Given the description of an element on the screen output the (x, y) to click on. 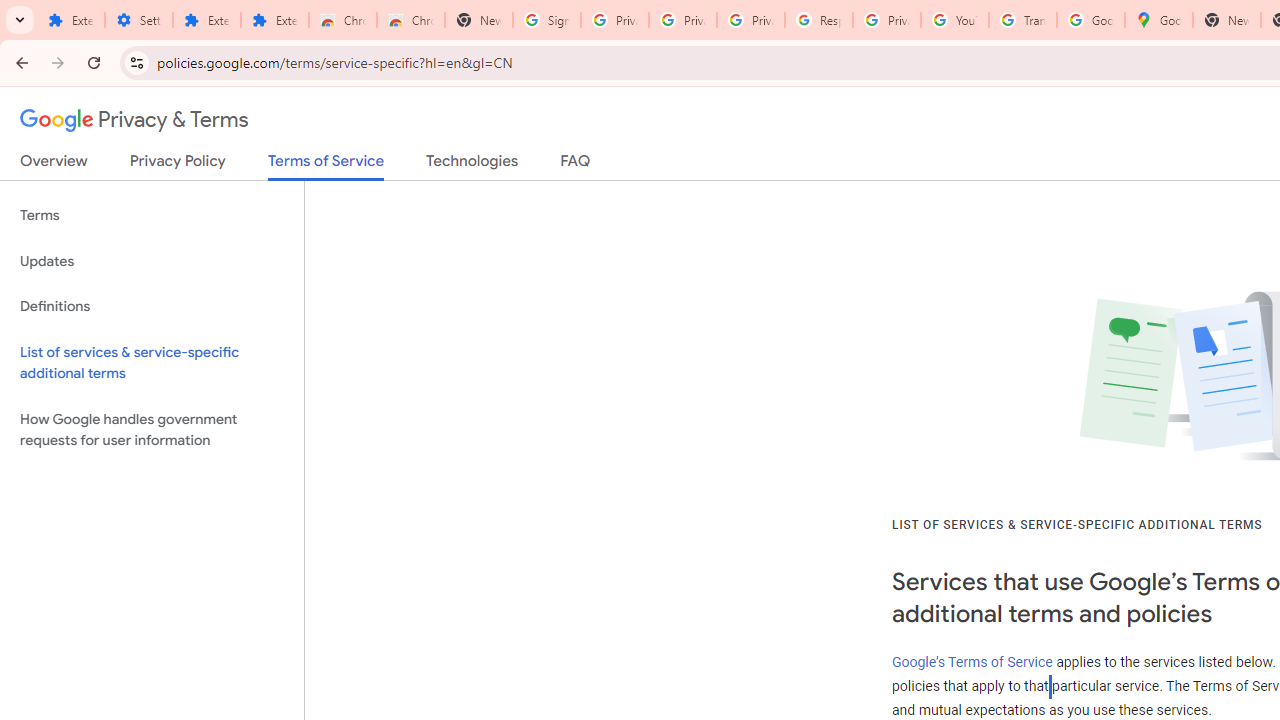
Sign in - Google Accounts (547, 20)
How Google handles government requests for user information (152, 429)
